Given the description of an element on the screen output the (x, y) to click on. 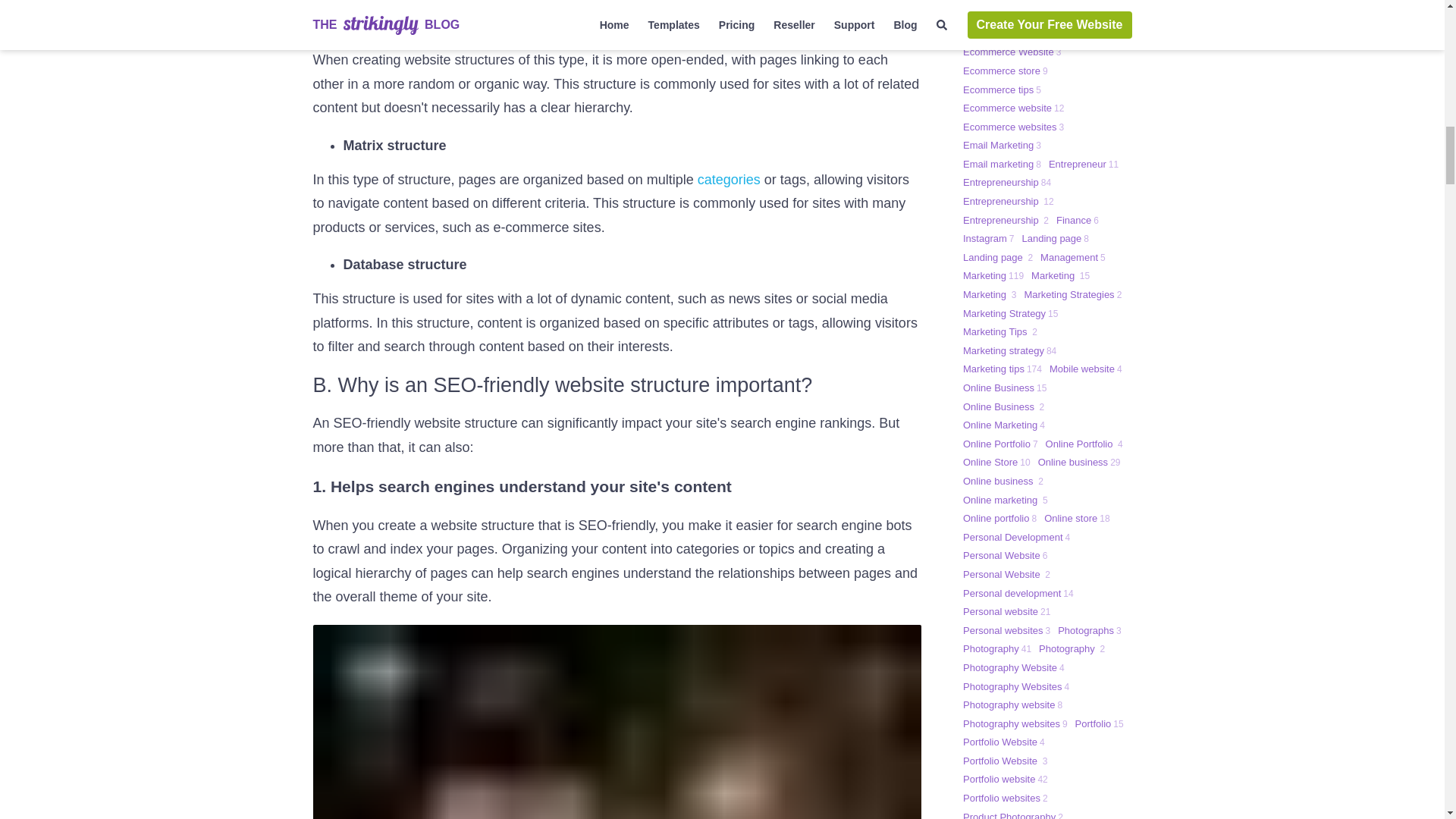
categories (728, 179)
